Given the description of an element on the screen output the (x, y) to click on. 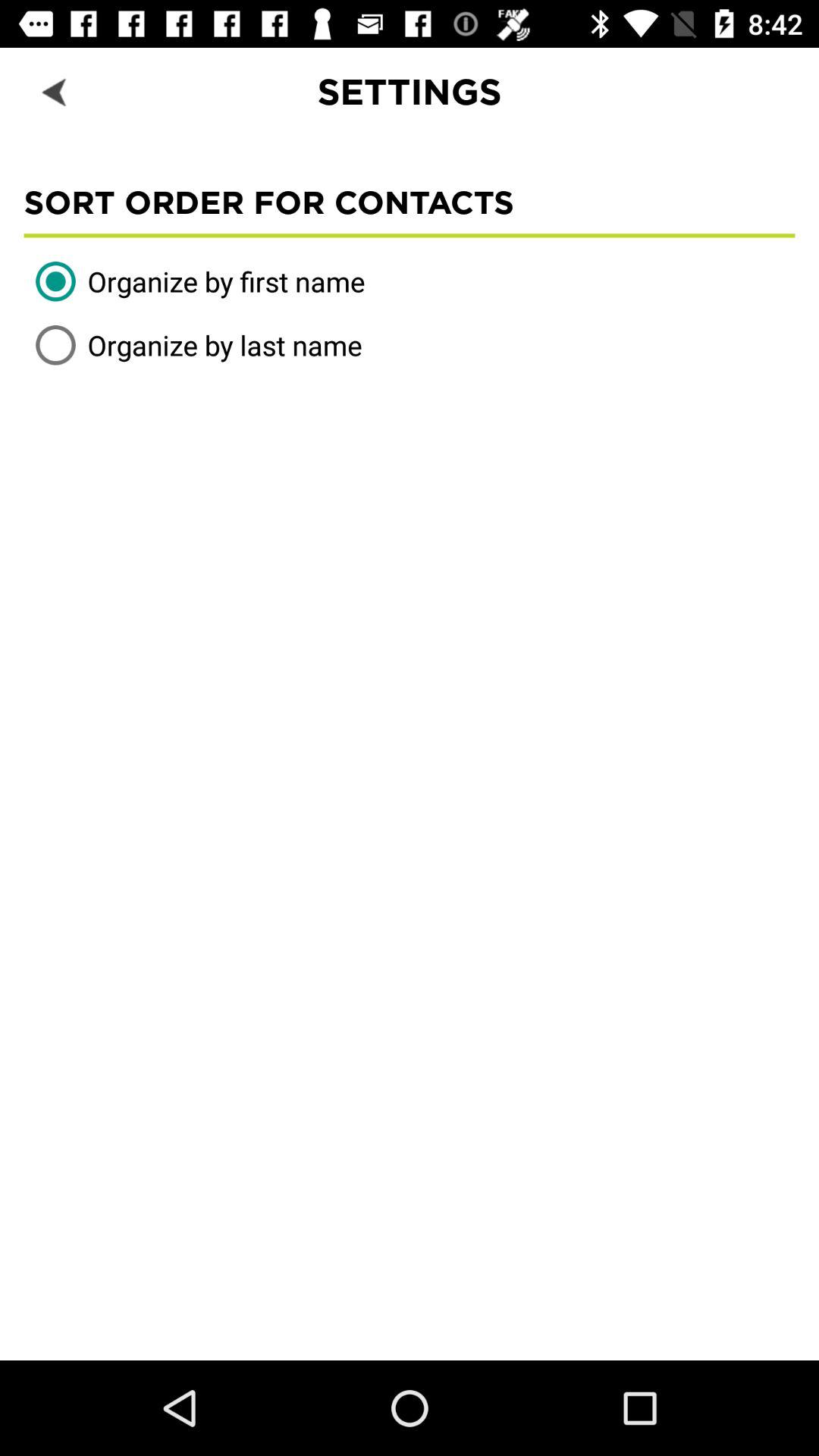
go to previous (55, 91)
